Given the description of an element on the screen output the (x, y) to click on. 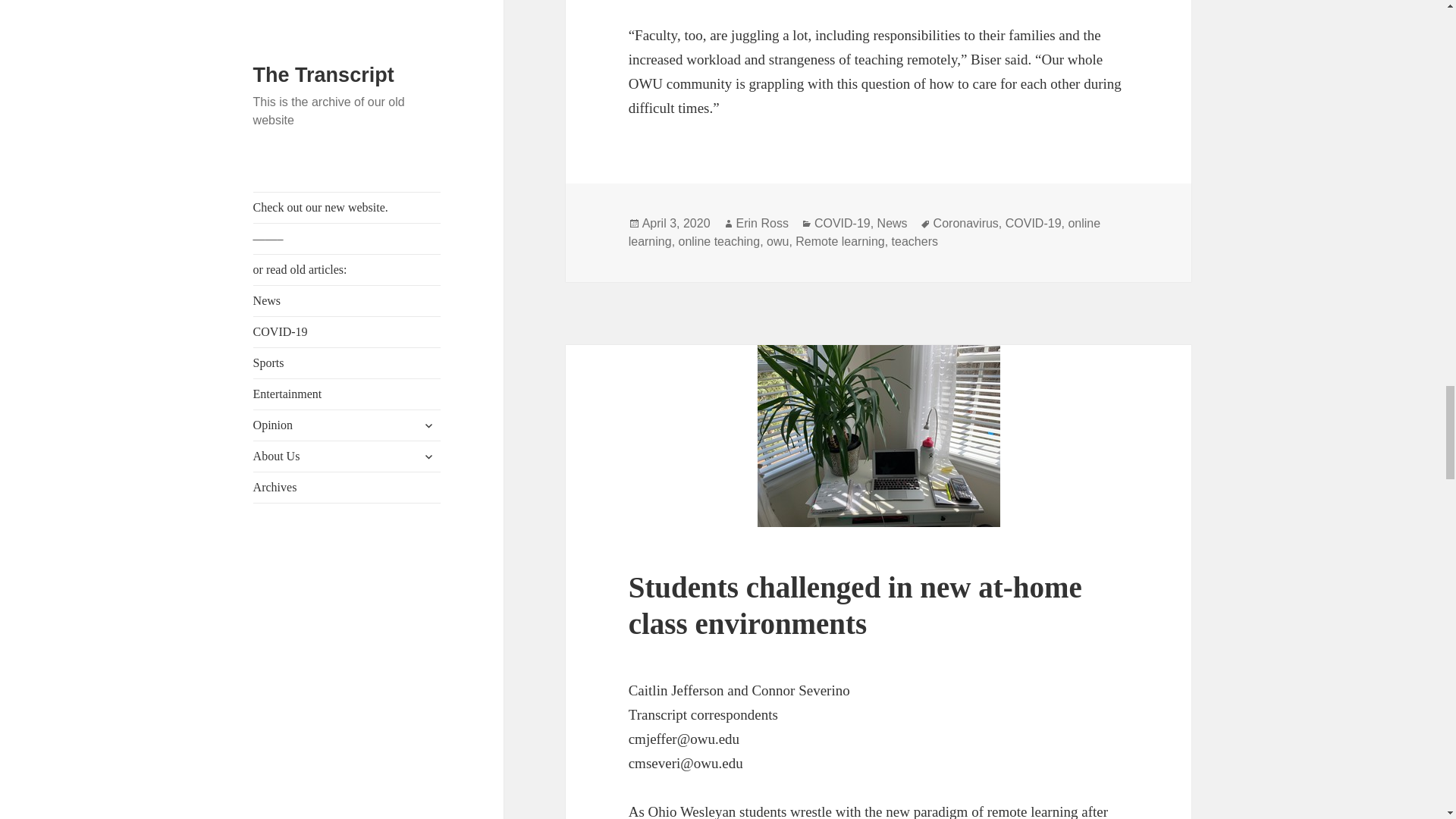
owu (778, 241)
online teaching (719, 241)
Erin Ross (762, 223)
Students challenged in new at-home class environments (854, 604)
Coronavirus (965, 223)
COVID-19 (841, 223)
online learning (864, 232)
April 3, 2020 (676, 223)
COVID-19 (1033, 223)
teachers (914, 241)
